Given the description of an element on the screen output the (x, y) to click on. 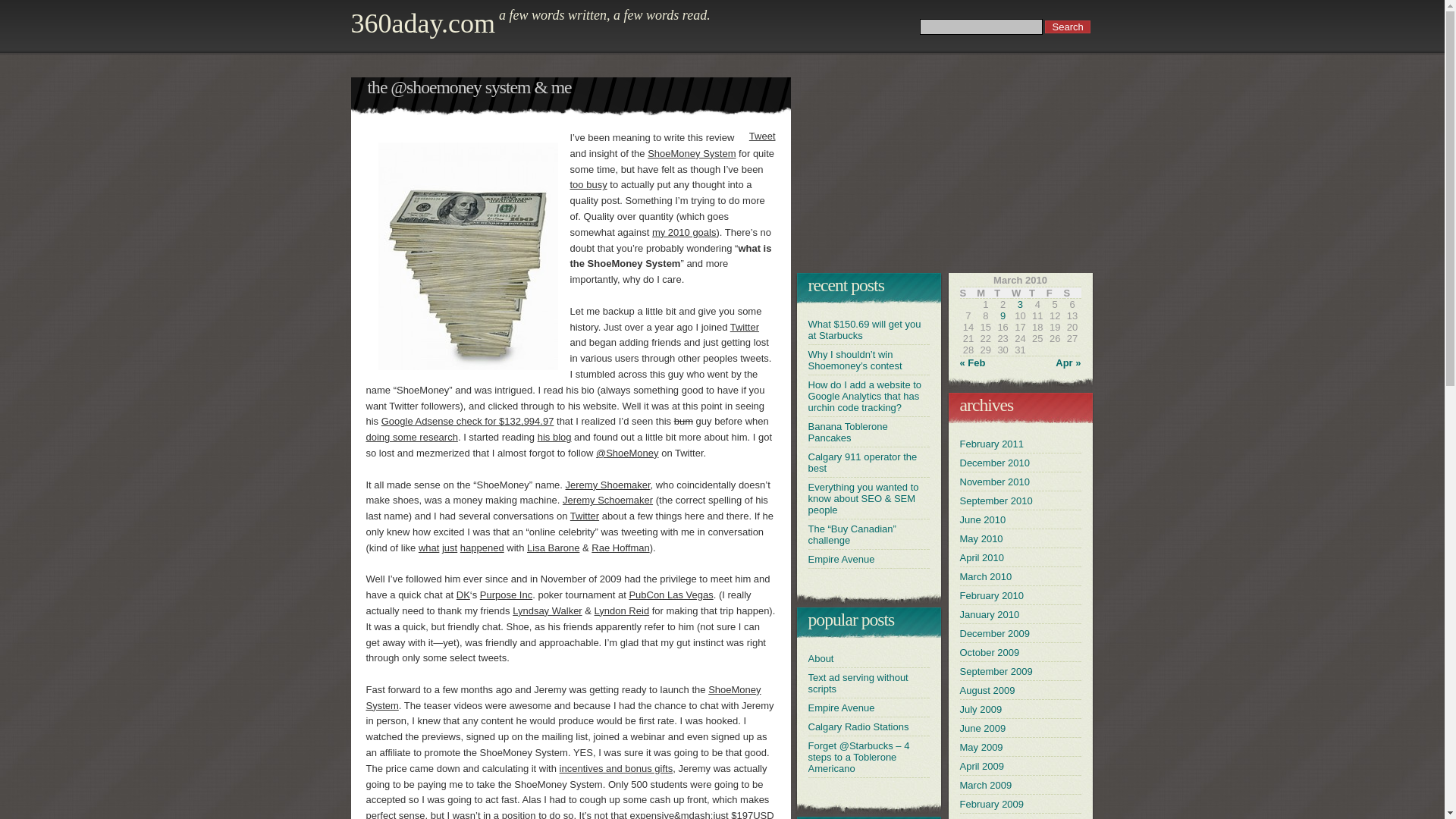
Twitter Element type: text (584, 515)
January 2010 Element type: text (989, 614)
Jeremy Schoemaker Element type: text (607, 499)
Lyndon Reid Element type: text (621, 610)
February 2010 Element type: text (992, 595)
June 2009 Element type: text (983, 728)
Advertisement Element type: hover (946, 171)
Banana Toblerone Pancakes Element type: text (848, 431)
Lisa Barone Element type: text (553, 547)
December 2010 Element type: text (995, 462)
Google Adsense check for $132,994.97 Element type: text (467, 420)
Text ad serving without scripts Element type: text (858, 682)
what Element type: text (428, 547)
9 Element type: text (1002, 315)
just Element type: text (449, 547)
Lyndsay Walker Element type: text (547, 610)
September 2010 Element type: text (996, 500)
ShoeMoney System Element type: text (691, 153)
April 2010 Element type: text (982, 557)
Calgary 911 operator the best Element type: text (862, 462)
incentives and bonus gifts Element type: text (616, 768)
Search Element type: text (1067, 26)
Jeremy Shoemaker Element type: text (607, 484)
Empire Avenue Element type: text (841, 707)
his blog Element type: text (554, 436)
Twitter Element type: text (744, 326)
Rae Hoffman Element type: text (620, 547)
Empire Avenue Element type: text (841, 558)
July 2009 Element type: text (981, 709)
About Element type: text (821, 658)
happened Element type: text (482, 547)
doing some research Element type: text (411, 436)
December 2009 Element type: text (995, 633)
June 2010 Element type: text (983, 519)
Tweet Element type: text (762, 135)
too busy Element type: text (588, 184)
the @shoemoney system & me Element type: text (469, 87)
@ShoeMoney Element type: text (627, 452)
Everything you wanted to know about SEO & SEM people Element type: text (863, 498)
What $150.69 will get you at Starbucks Element type: text (864, 329)
November 2010 Element type: text (995, 481)
May 2010 Element type: text (981, 538)
February 2011 Element type: text (992, 443)
my 2010 goals Element type: text (684, 232)
stack-of-cash Element type: hover (467, 255)
September 2009 Element type: text (996, 671)
Purpose Inc Element type: text (506, 594)
ShoeMoney System Element type: text (562, 697)
October 2009 Element type: text (989, 652)
360aday.com Element type: text (422, 23)
3 Element type: text (1020, 304)
April 2009 Element type: text (982, 765)
DK Element type: text (463, 594)
PubCon Las Vegas Element type: text (670, 594)
Calgary Radio Stations Element type: text (858, 726)
March 2009 Element type: text (986, 784)
February 2009 Element type: text (992, 803)
March 2010 Element type: text (986, 576)
August 2009 Element type: text (987, 690)
May 2009 Element type: text (981, 747)
